Given the description of an element on the screen output the (x, y) to click on. 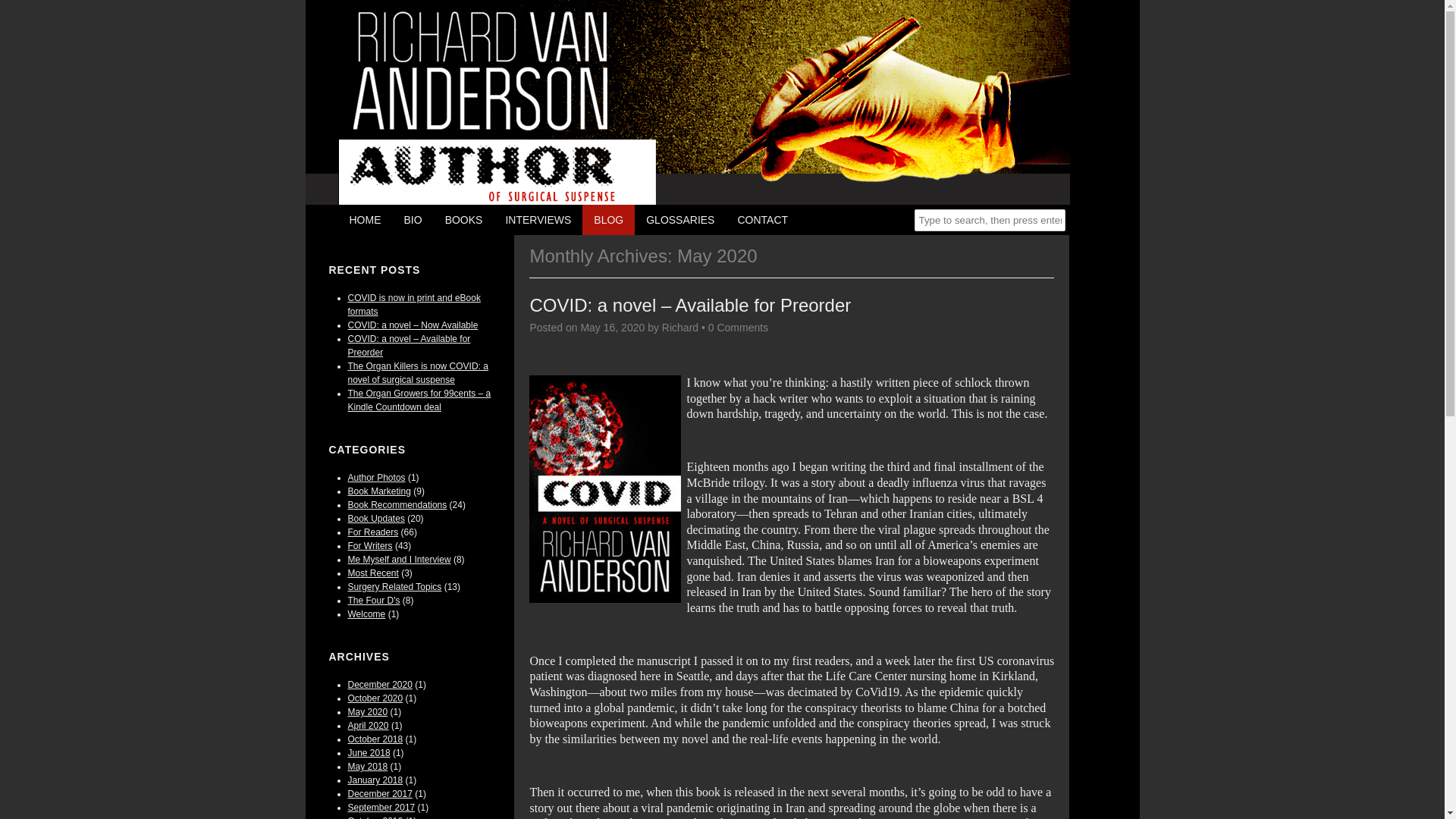
Book Marketing (378, 491)
Most Recent (372, 573)
COVID is now in print and eBook formats (413, 304)
October 2020 (375, 697)
April 2020 (367, 725)
May 2020 (367, 711)
Search (23, 10)
Surgery Related Topics (394, 586)
The Organ Killers is now COVID: a novel of surgical suspense (417, 372)
View all posts by Richard (680, 327)
